Given the description of an element on the screen output the (x, y) to click on. 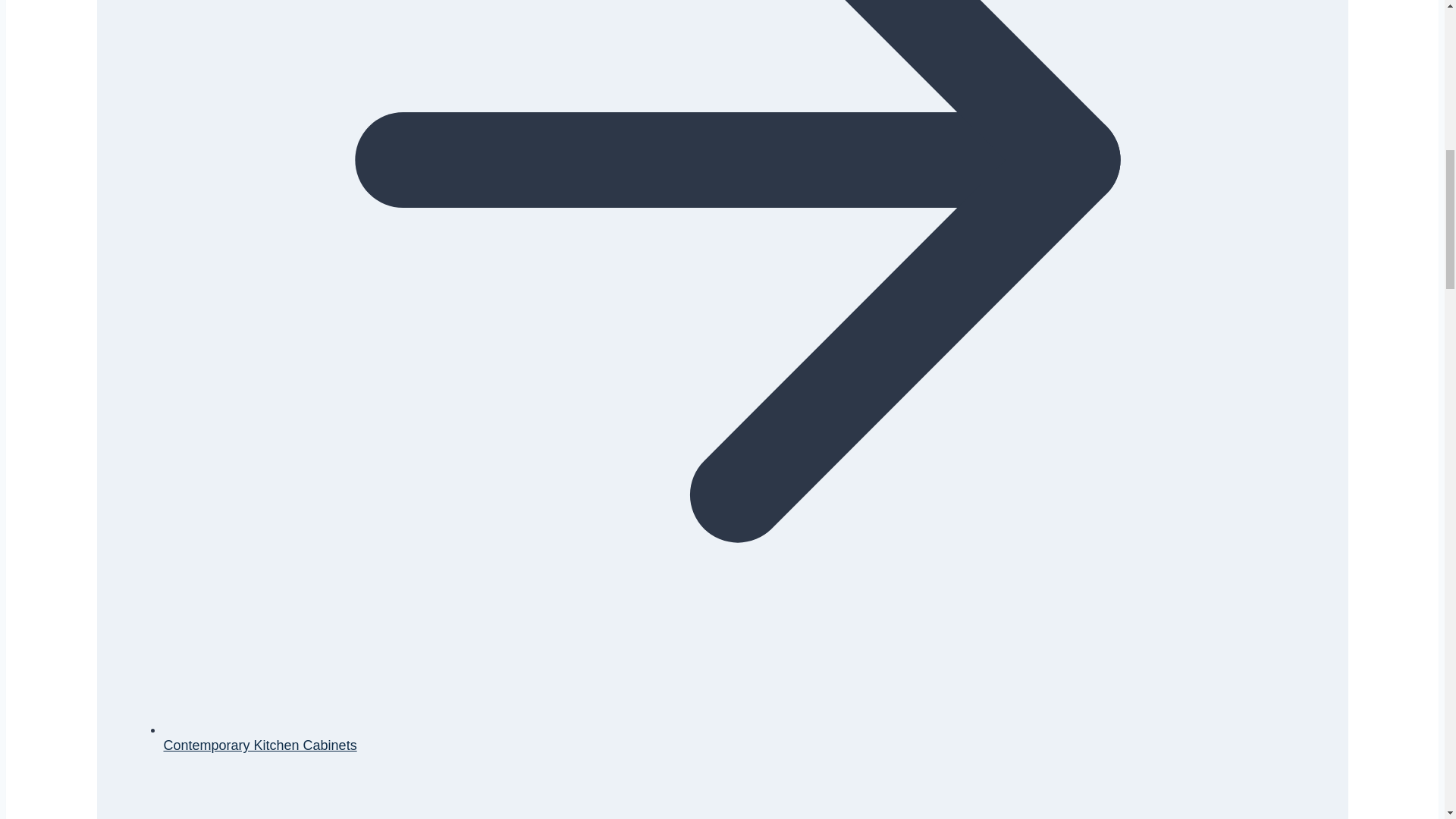
Contemporary Kitchen Cabinets (259, 744)
